Given the description of an element on the screen output the (x, y) to click on. 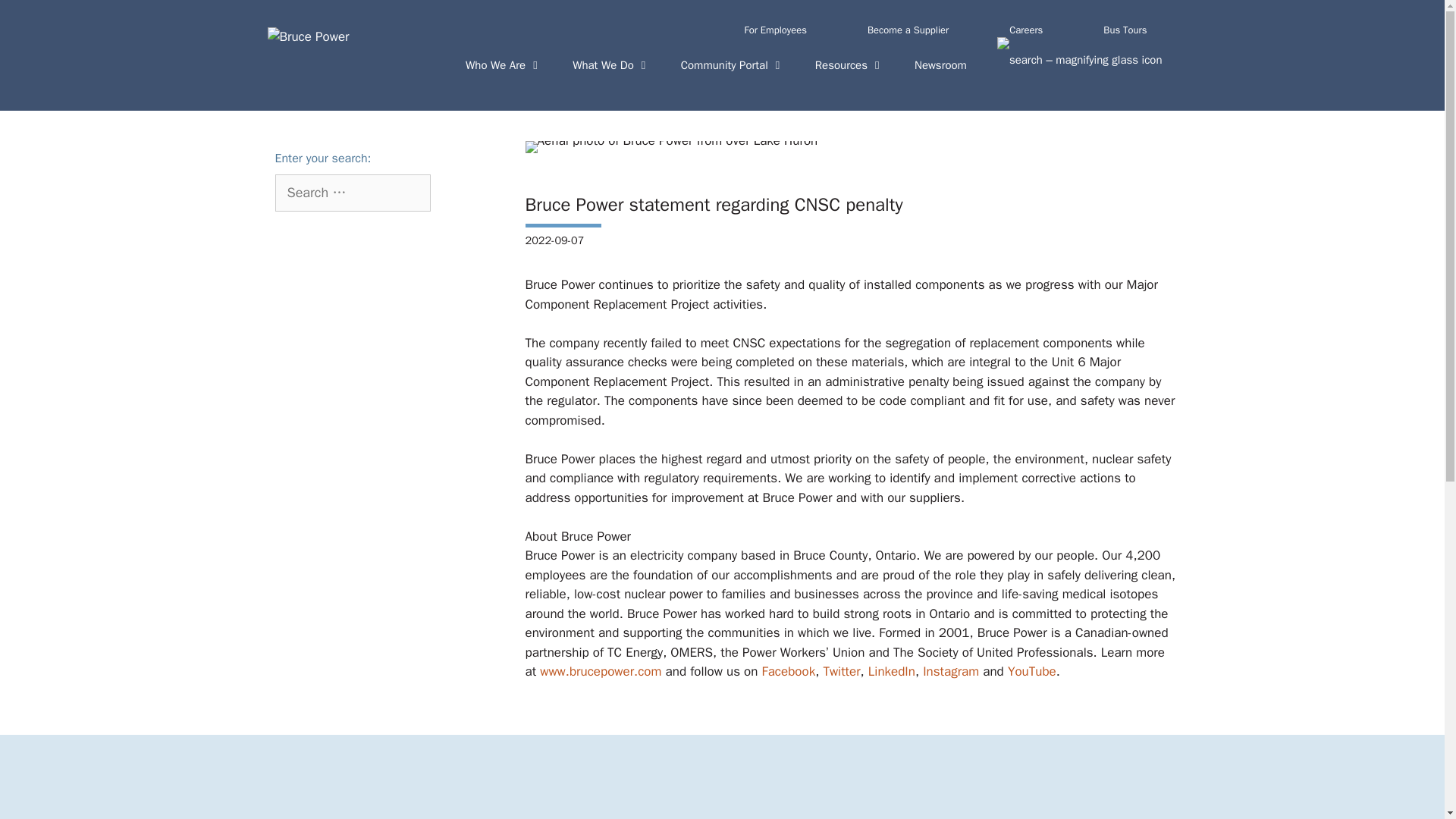
Who We Are (503, 68)
Bus Tours (1124, 30)
Become a Supplier (907, 30)
Careers (1026, 30)
Community Portal (732, 68)
For Employees (775, 30)
What We Do (611, 68)
Search ... (352, 192)
